Given the description of an element on the screen output the (x, y) to click on. 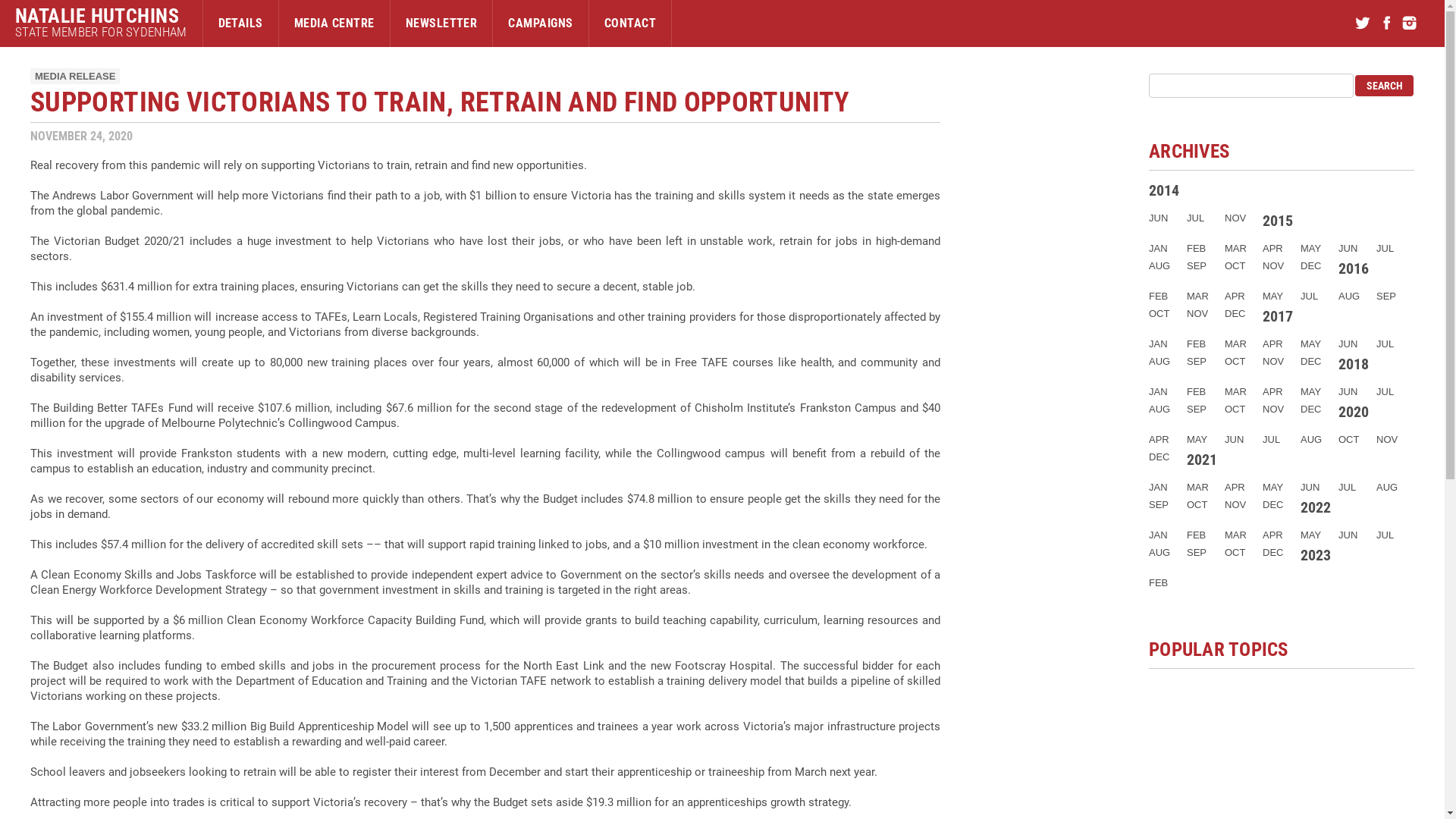
MAR Element type: text (1235, 343)
JUN Element type: text (1233, 439)
2020 Element type: text (1353, 411)
OCT Element type: text (1348, 439)
JUL Element type: text (1271, 439)
NOV Element type: text (1272, 361)
MEDIA CENTRE Element type: text (334, 23)
MAR Element type: text (1197, 295)
AUG Element type: text (1159, 408)
JUN Element type: text (1309, 486)
JUN Element type: text (1157, 217)
SEP Element type: text (1196, 265)
FEB Element type: text (1157, 295)
MAY Element type: text (1196, 439)
MAY Element type: text (1310, 343)
JUL Element type: text (1346, 486)
AUG Element type: text (1386, 486)
SEP Element type: text (1196, 361)
DEC Element type: text (1158, 456)
FEB Element type: text (1157, 582)
DEC Element type: text (1234, 313)
JUL Element type: text (1384, 391)
JAN Element type: text (1157, 486)
NATALIE HUTCHINS Element type: text (101, 15)
NOV Element type: text (1197, 313)
DEC Element type: text (1310, 361)
JAN Element type: text (1157, 534)
DEC Element type: text (1272, 504)
MAR Element type: text (1235, 248)
SEP Element type: text (1196, 408)
APR Element type: text (1234, 486)
JUN Element type: text (1347, 248)
2018 Element type: text (1353, 363)
NOV Element type: text (1272, 408)
NEWSLETTER Element type: text (441, 23)
JAN Element type: text (1157, 391)
2021 Element type: text (1201, 459)
FEB Element type: text (1195, 248)
JUN Element type: text (1347, 534)
APR Element type: text (1158, 439)
2015 Element type: text (1277, 220)
NOV Element type: text (1386, 439)
APR Element type: text (1272, 534)
DEC Element type: text (1310, 408)
JUL Element type: text (1384, 248)
MAY Element type: text (1310, 534)
NOV Element type: text (1234, 217)
MAR Element type: text (1197, 486)
DEC Element type: text (1272, 552)
SEP Element type: text (1386, 295)
JAN Element type: text (1157, 248)
MAY Element type: text (1310, 248)
AUG Element type: text (1348, 295)
AUG Element type: text (1310, 439)
2017 Element type: text (1277, 316)
JAN Element type: text (1157, 343)
search Element type: text (1384, 85)
APR Element type: text (1234, 295)
AUG Element type: text (1159, 552)
FEB Element type: text (1195, 534)
MAR Element type: text (1235, 534)
SEP Element type: text (1158, 504)
OCT Element type: text (1234, 408)
STATE MEMBER FOR SYDENHAM Element type: text (101, 31)
APR Element type: text (1272, 248)
JUN Element type: text (1347, 343)
MAY Element type: text (1272, 486)
OCT Element type: text (1234, 361)
APR Element type: text (1272, 343)
JUN Element type: text (1347, 391)
CAMPAIGNS Element type: text (539, 23)
2022 Element type: text (1315, 507)
DETAILS Element type: text (240, 23)
CONTACT Element type: text (630, 23)
FEB Element type: text (1195, 343)
JUL Element type: text (1195, 217)
MAY Element type: text (1272, 295)
2023 Element type: text (1315, 555)
OCT Element type: text (1234, 265)
OCT Element type: text (1158, 313)
2016 Element type: text (1353, 268)
NOV Element type: text (1272, 265)
FEB Element type: text (1195, 391)
2014 Element type: text (1163, 190)
MEDIA RELEASE Element type: text (74, 76)
APR Element type: text (1272, 391)
AUG Element type: text (1159, 265)
OCT Element type: text (1234, 552)
JUL Element type: text (1384, 534)
JUL Element type: text (1308, 295)
OCT Element type: text (1196, 504)
SEP Element type: text (1196, 552)
DEC Element type: text (1310, 265)
NOV Element type: text (1234, 504)
JUL Element type: text (1384, 343)
MAY Element type: text (1310, 391)
MAR Element type: text (1235, 391)
AUG Element type: text (1159, 361)
